Given the description of an element on the screen output the (x, y) to click on. 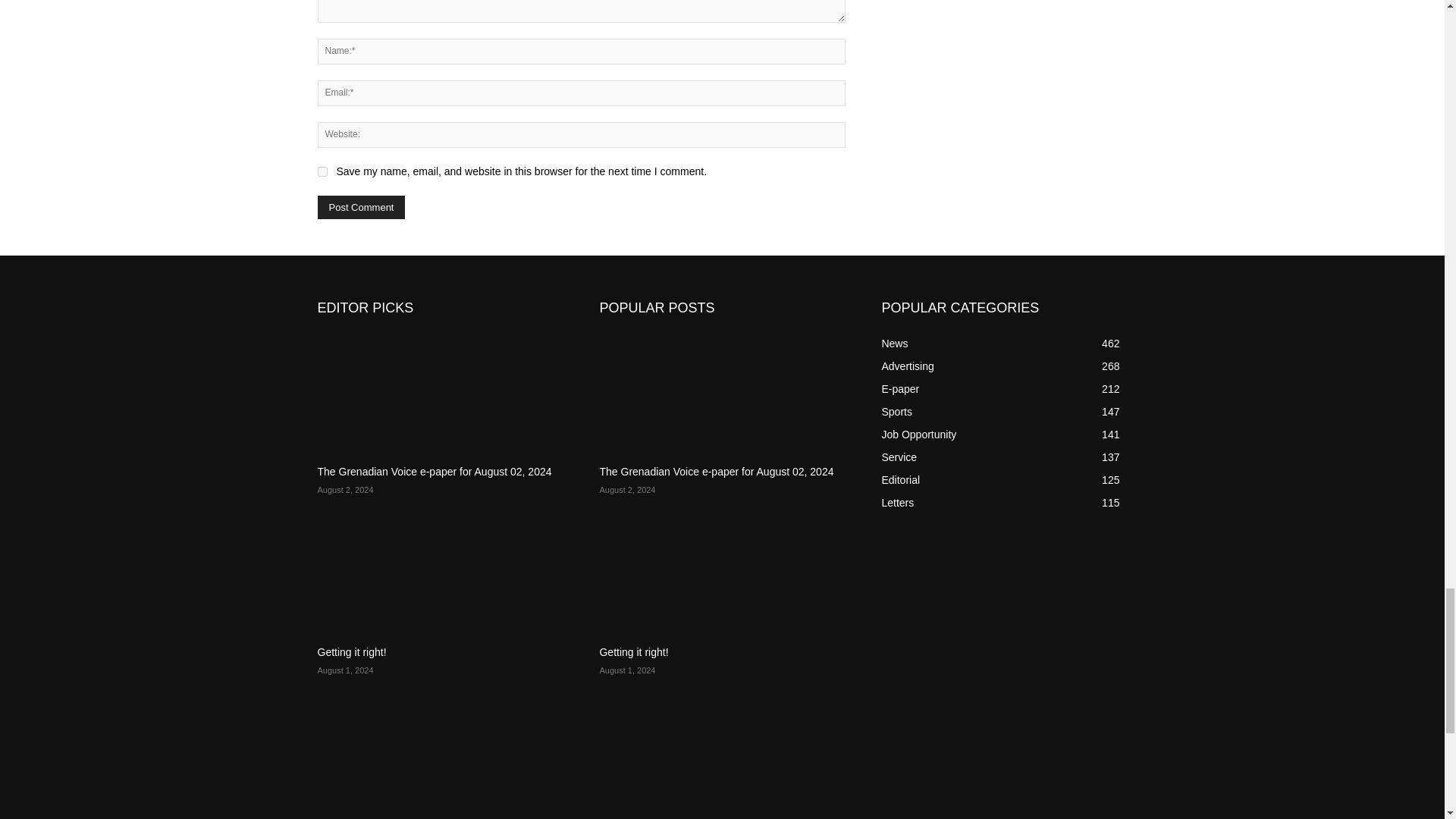
yes (321, 171)
Post Comment (360, 207)
